Given the description of an element on the screen output the (x, y) to click on. 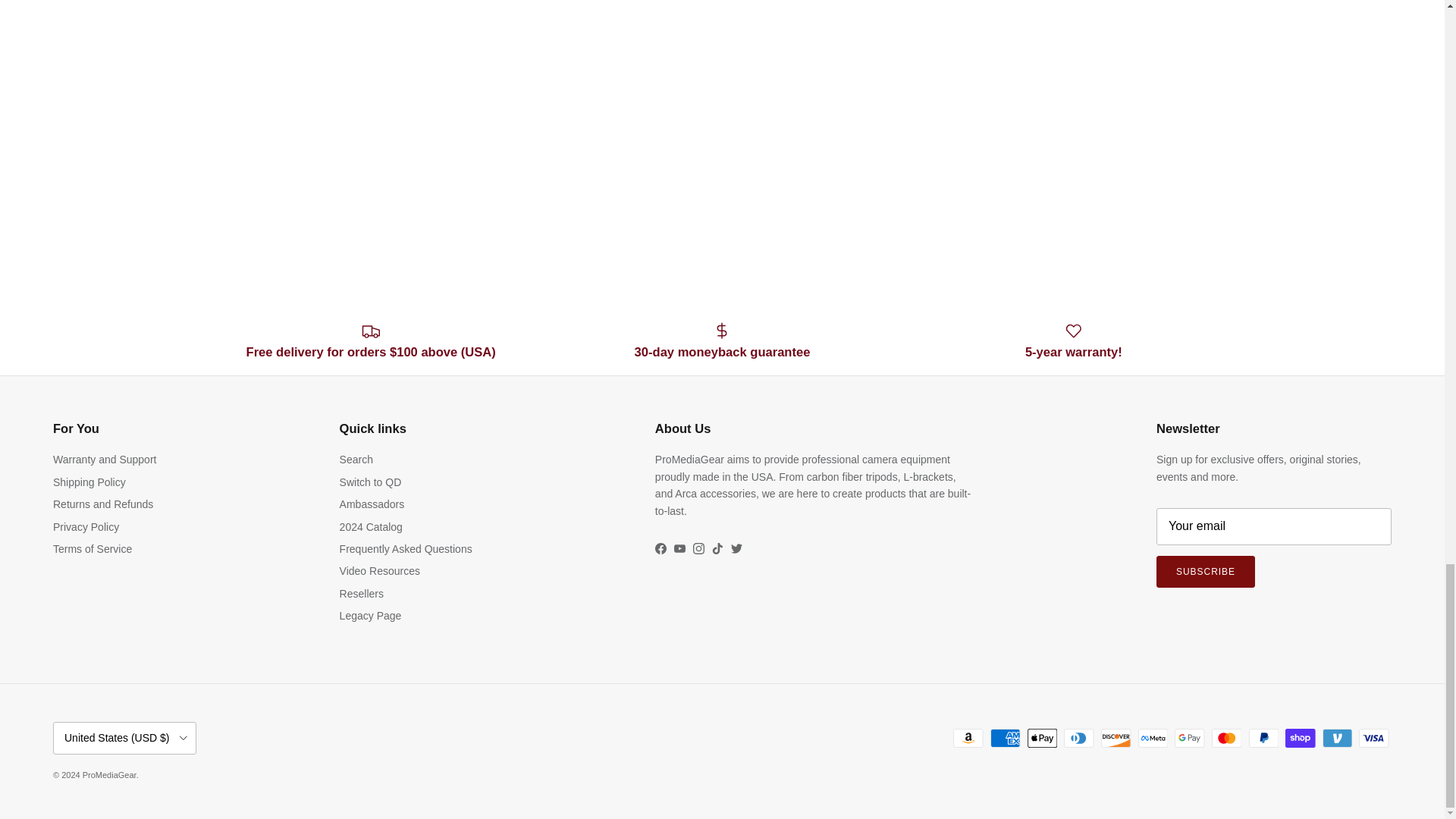
ProMediaGear on Instagram (698, 548)
Amazon (967, 737)
Venmo (1337, 737)
ProMediaGear on TikTok (717, 548)
Visa (1373, 737)
Meta Pay (1152, 737)
PayPal (1262, 737)
Apple Pay (1042, 737)
Google Pay (1189, 737)
ProMediaGear on YouTube (679, 548)
Mastercard (1226, 737)
Diners Club (1078, 737)
American Express (1005, 737)
ProMediaGear on Facebook (660, 548)
Discover (1115, 737)
